Given the description of an element on the screen output the (x, y) to click on. 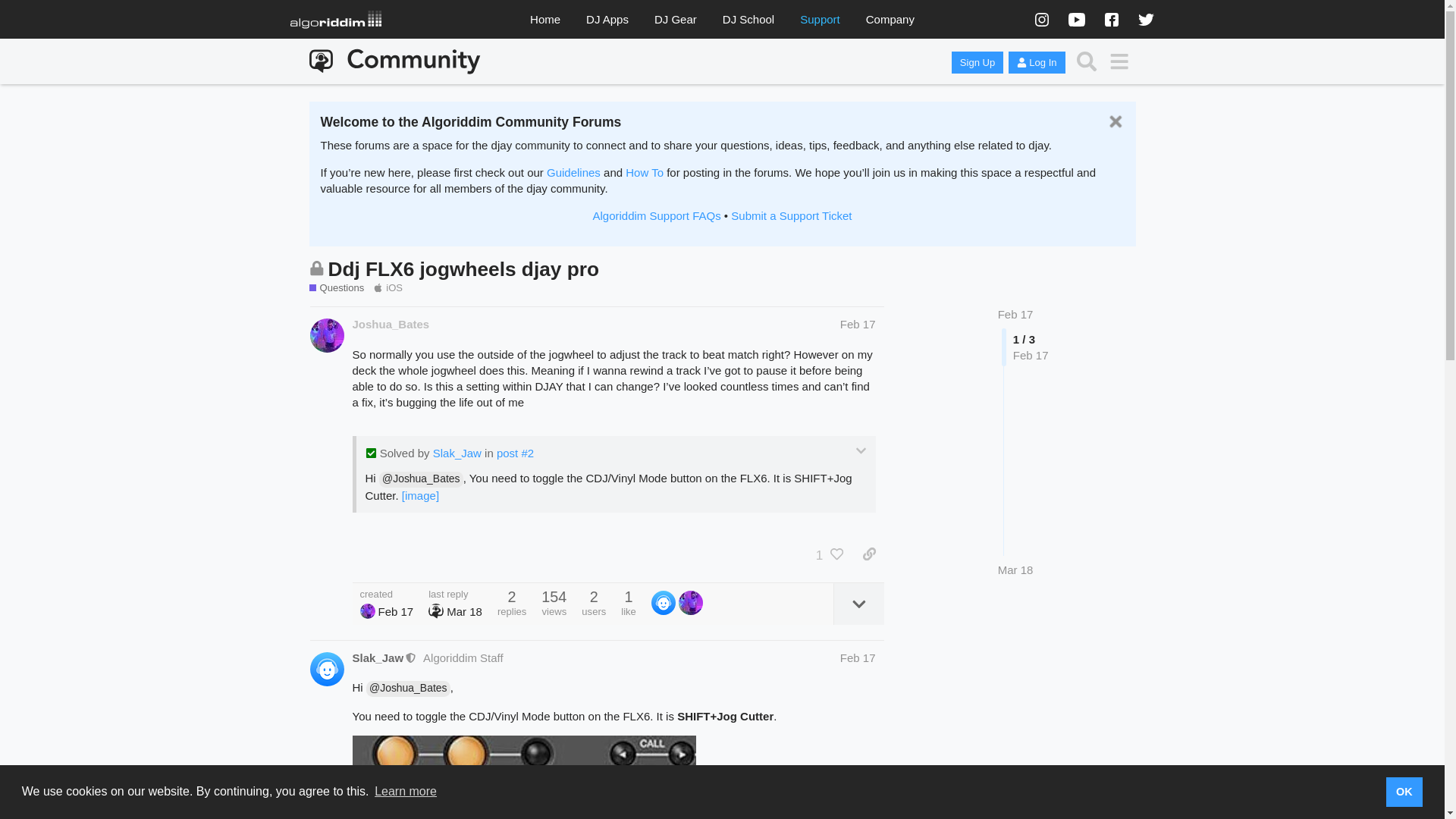
DJ Apps (607, 19)
Search (1086, 61)
Ddj FLX6 jogwheels djay pro (462, 268)
Feb 17 (858, 323)
Mar 18, 2024 5:39 am (1015, 568)
Algoriddim on Facebook (1110, 18)
iOS (387, 287)
menu (1119, 61)
Log In (1036, 62)
Feb 17 (1015, 314)
